Given the description of an element on the screen output the (x, y) to click on. 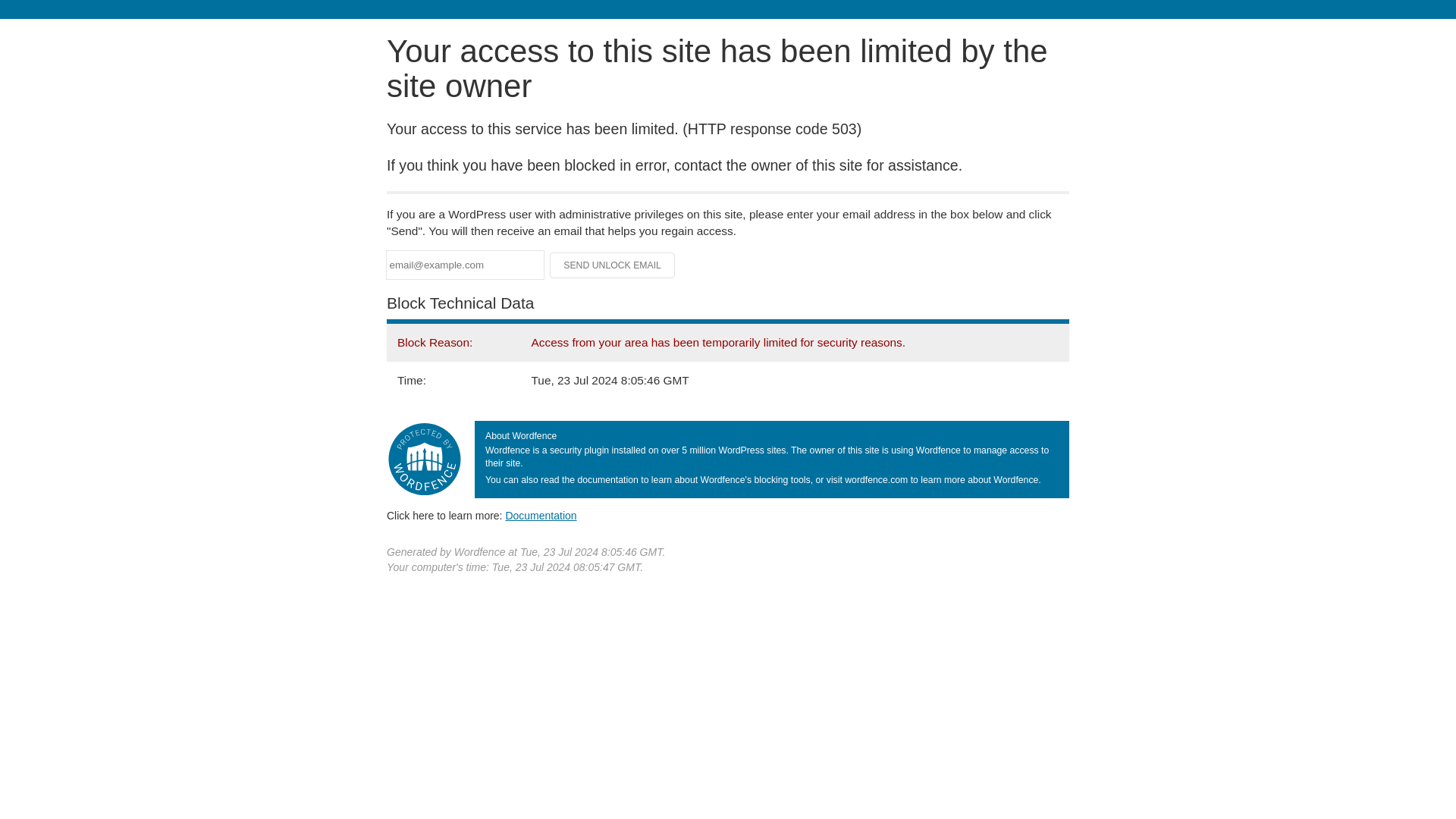
Documentation (540, 515)
Send Unlock Email (612, 265)
Send Unlock Email (612, 265)
